Given the description of an element on the screen output the (x, y) to click on. 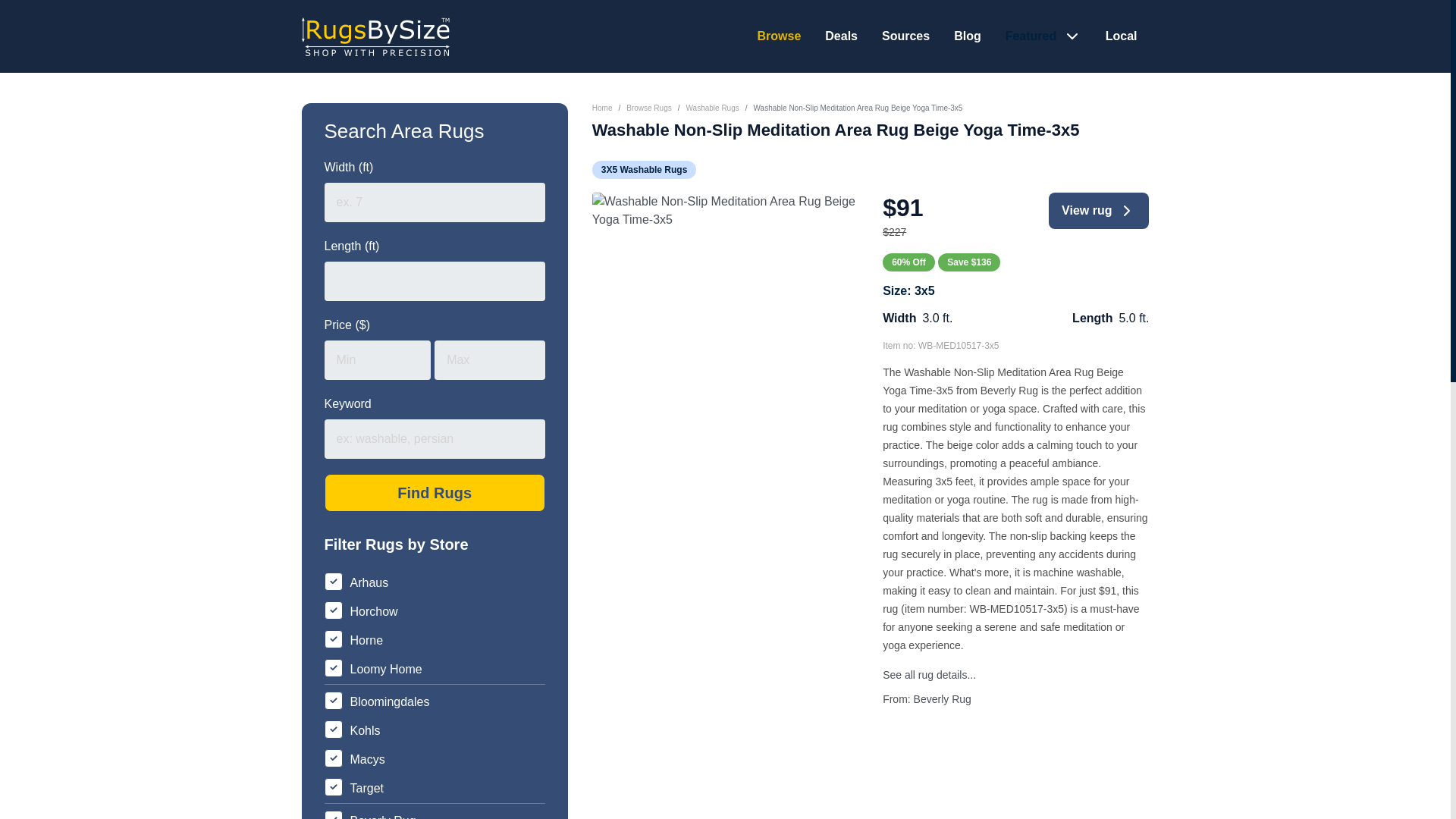
Local (1121, 35)
Browse (778, 35)
Beverly Rug (942, 698)
Home (602, 108)
Deals (841, 35)
Blog (967, 35)
Browse Rugs (648, 108)
View rug (1098, 210)
Featured (1032, 35)
Sources (906, 35)
Find Rugs (434, 492)
Washable Rugs (711, 108)
See all rug details... (928, 674)
